Given the description of an element on the screen output the (x, y) to click on. 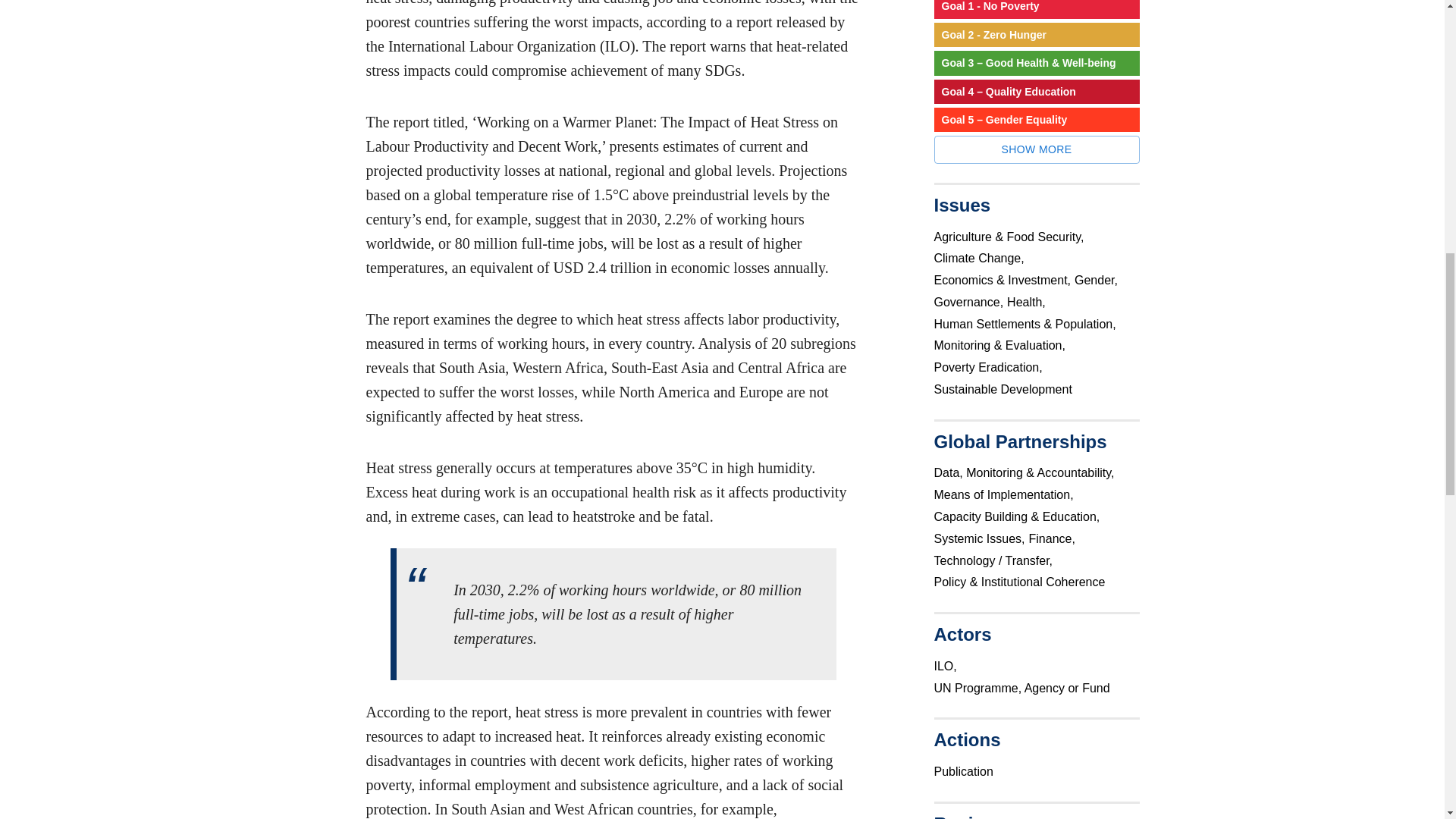
Gender, (1097, 279)
Climate Change, (980, 257)
SHOW MORE (1037, 149)
Health, (1028, 301)
Governance, (970, 301)
Goal 1 - No Poverty (1037, 9)
Goal 2 - Zero Hunger (1037, 34)
